Given the description of an element on the screen output the (x, y) to click on. 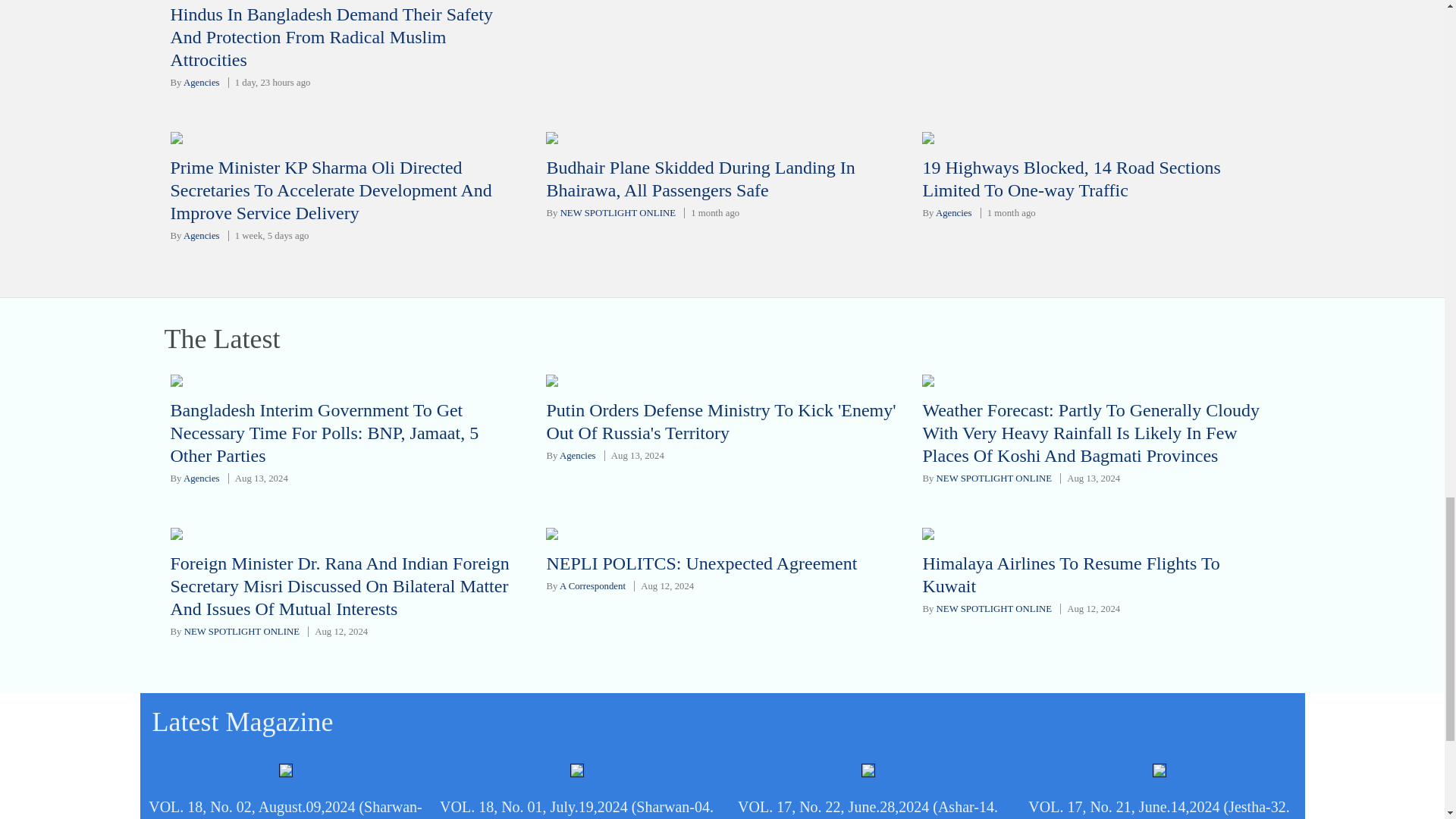
Agencies (954, 213)
NEW SPOTLIGHT ONLINE (617, 213)
Agencies (201, 235)
Agencies (201, 81)
